Given the description of an element on the screen output the (x, y) to click on. 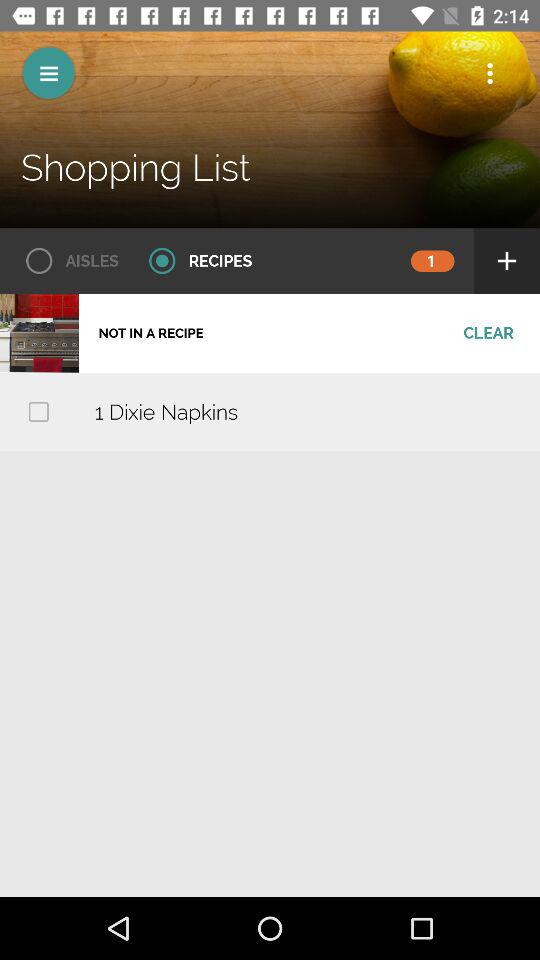
menu (48, 72)
